Given the description of an element on the screen output the (x, y) to click on. 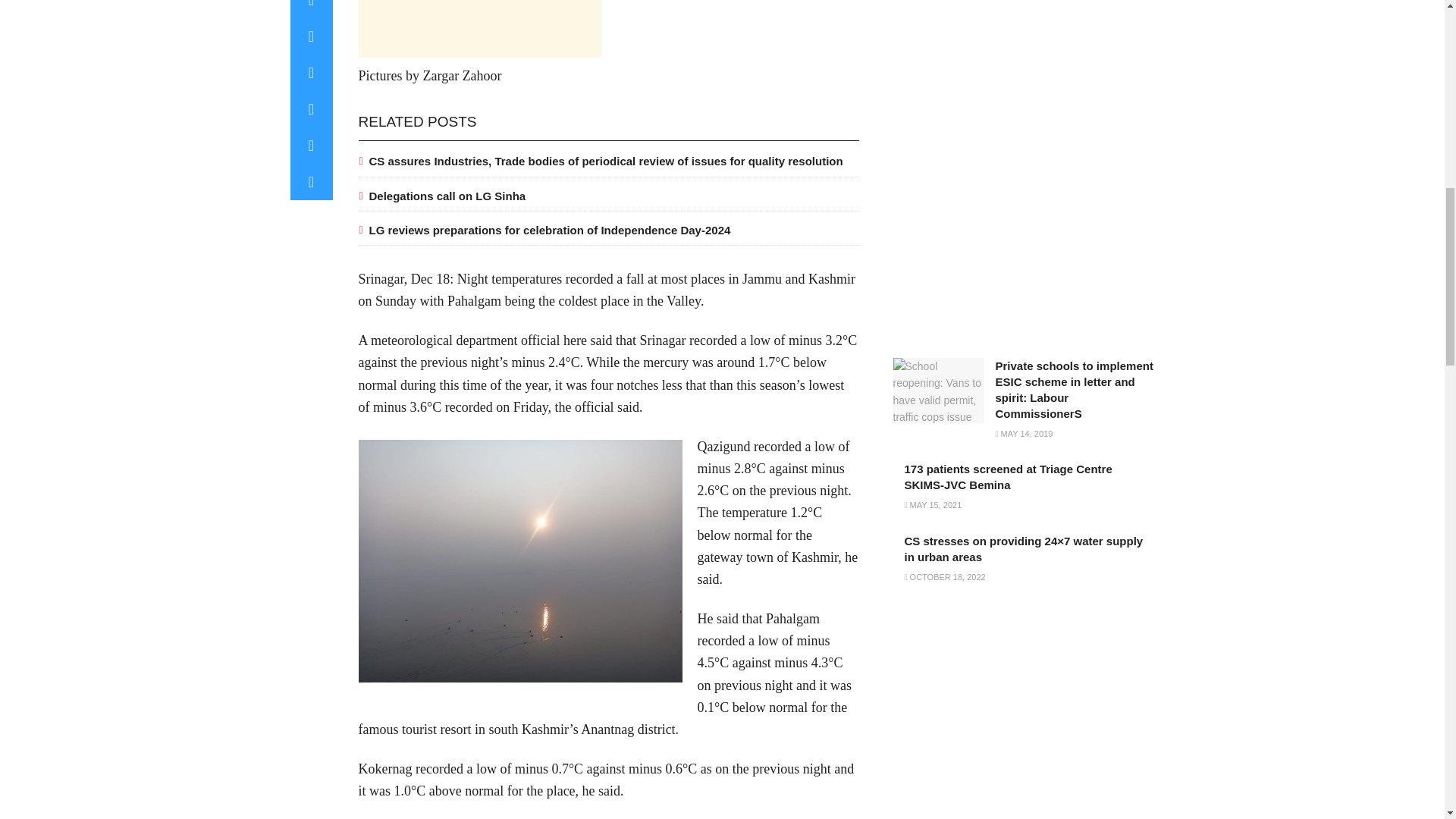
Advertisement (478, 28)
